Given the description of an element on the screen output the (x, y) to click on. 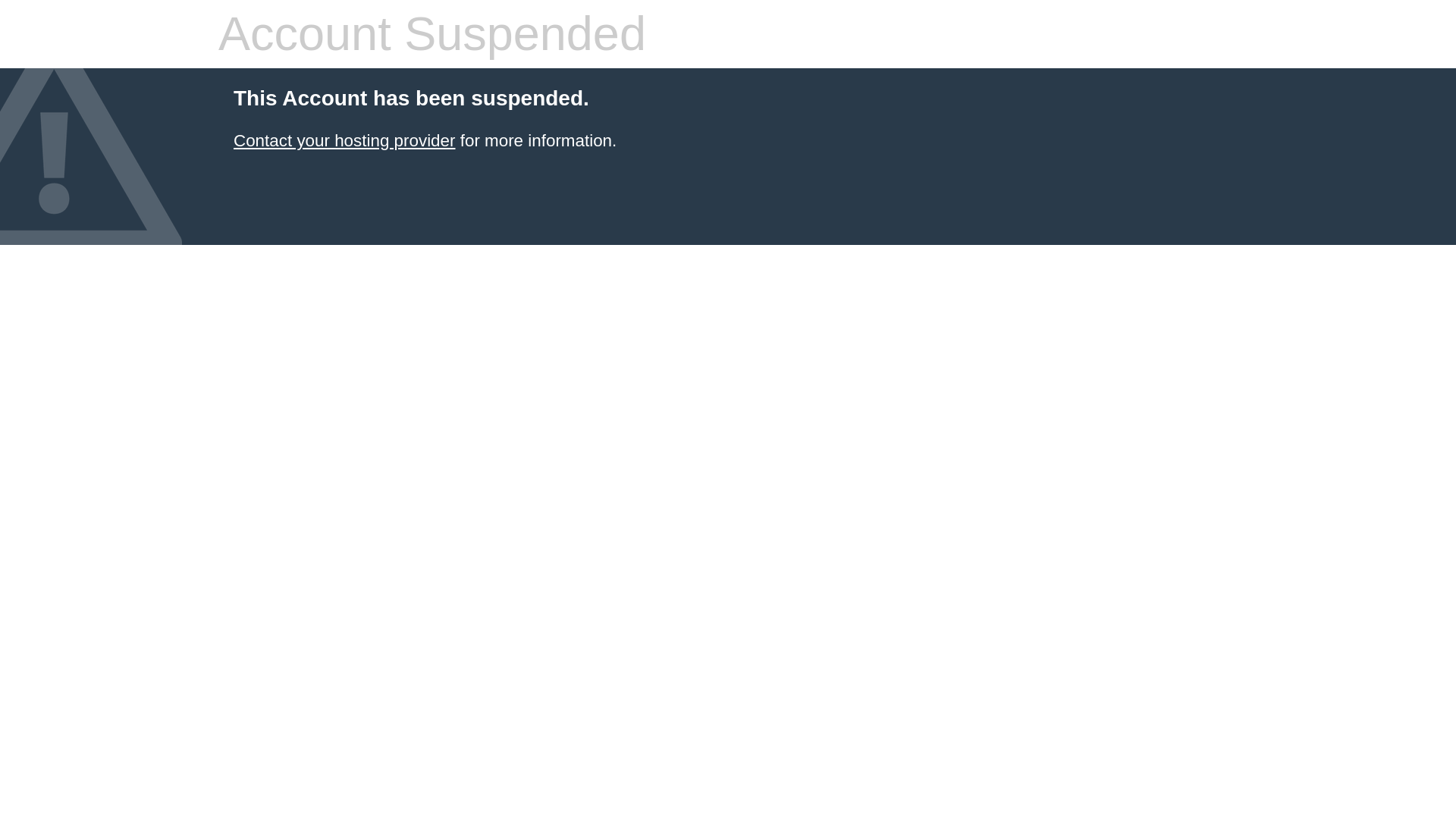
Contact your hosting provider (343, 140)
